Given the description of an element on the screen output the (x, y) to click on. 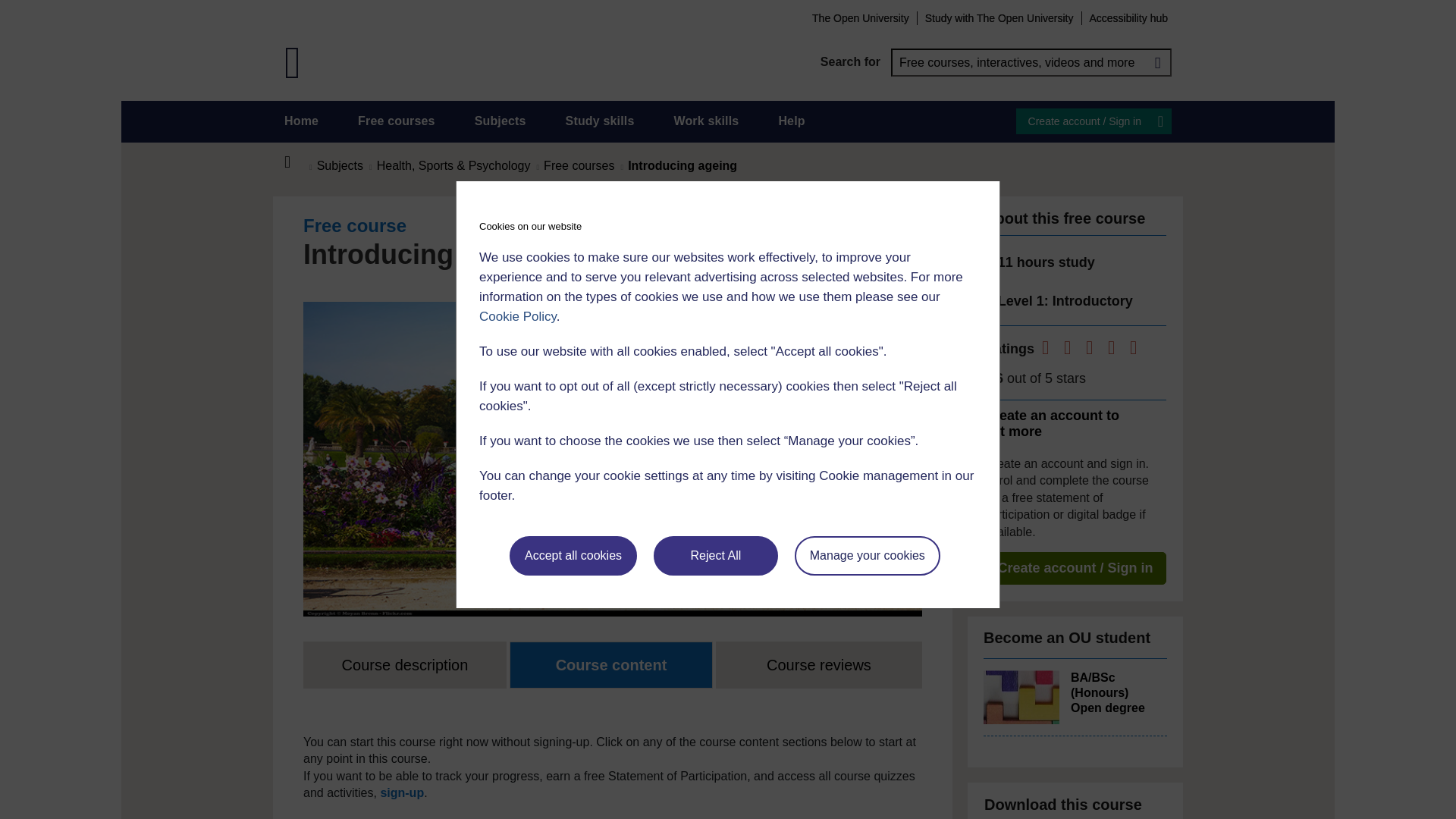
Search (1157, 62)
Free courses (396, 120)
Accept all cookies (573, 555)
Study with The Open University (999, 17)
Accessibility hub (1129, 17)
Cookie Policy (517, 316)
Home (295, 162)
Manage your cookies (867, 555)
Course description (404, 664)
Help (791, 120)
Subjects (499, 120)
Study skills (600, 120)
Course content (611, 664)
Reject All (715, 555)
